Given the description of an element on the screen output the (x, y) to click on. 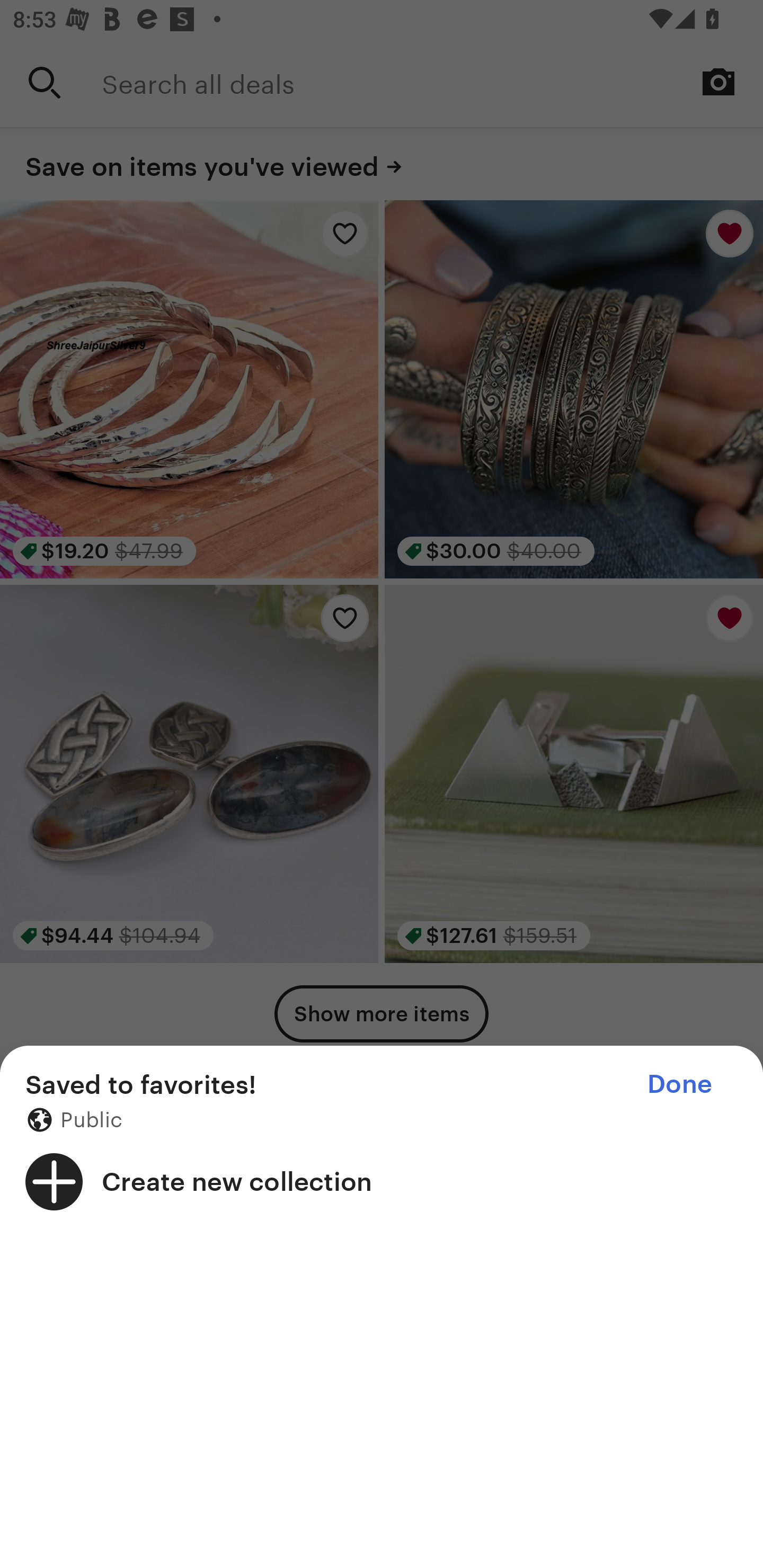
Done (679, 1083)
Create new collection (381, 1181)
